Given the description of an element on the screen output the (x, y) to click on. 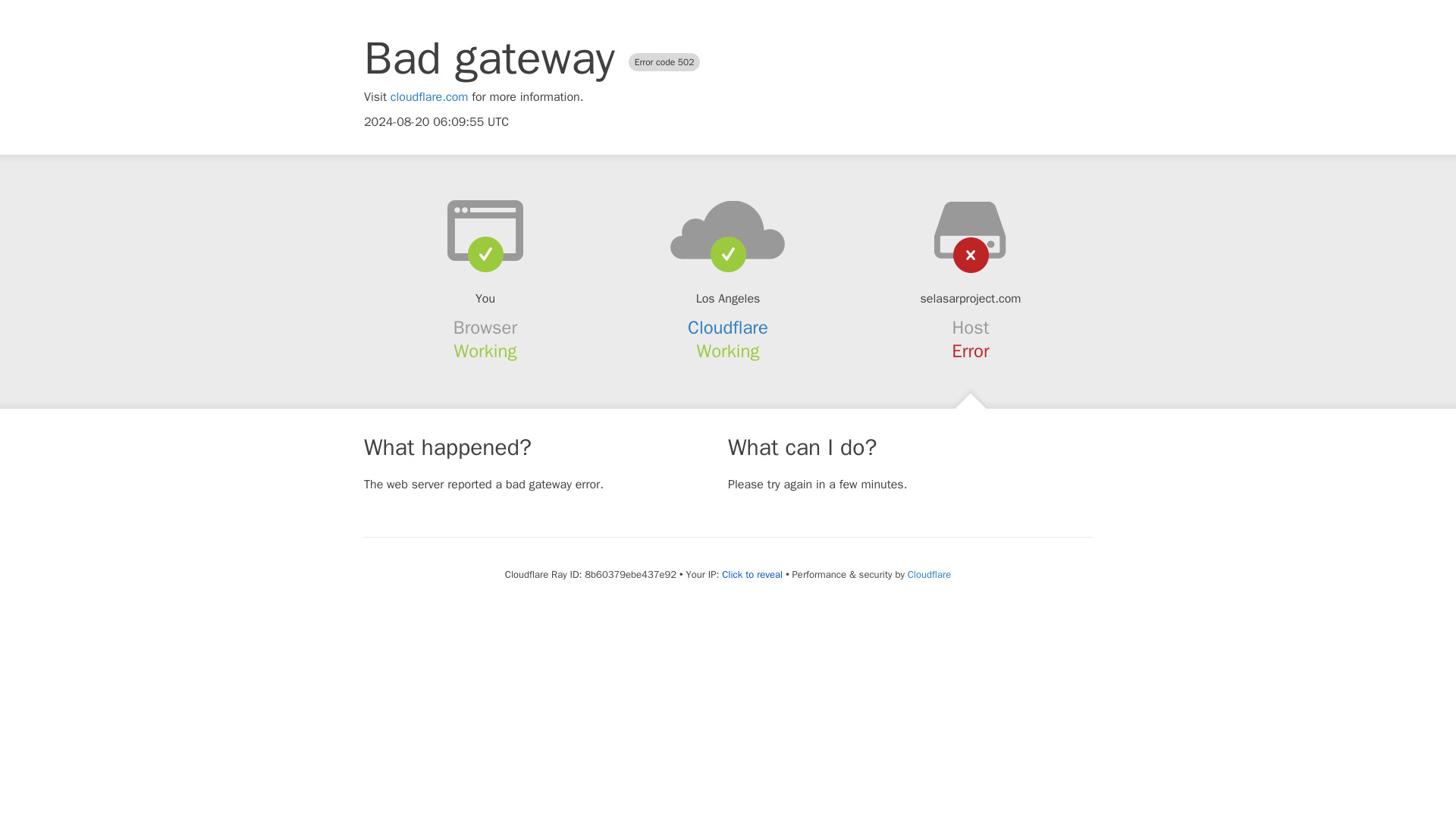
Cloudflare (727, 327)
Click to reveal (752, 574)
cloudflare.com (429, 96)
Cloudflare (928, 574)
